Given the description of an element on the screen output the (x, y) to click on. 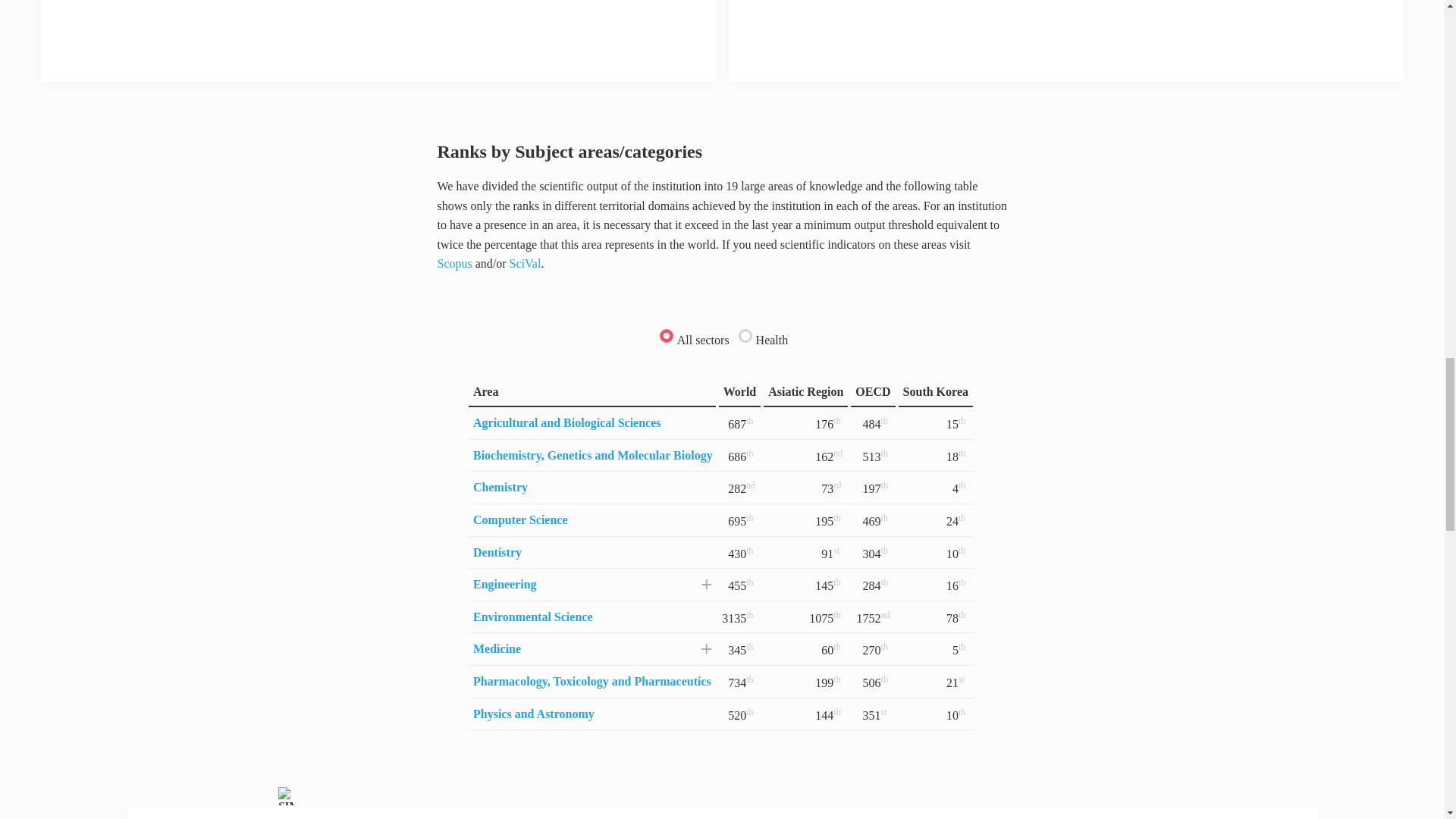
SciVal (525, 263)
Computer Science (520, 519)
Ranking - Medicine  (497, 648)
Ranking - Physics and Astronomy  (533, 713)
Chemistry (500, 486)
Scopus (453, 263)
Ranking - Engineering  (505, 584)
Ranking - Chemistry  (500, 486)
sector (744, 335)
Ranking - Agricultural and Biological Sciences  (567, 422)
